Given the description of an element on the screen output the (x, y) to click on. 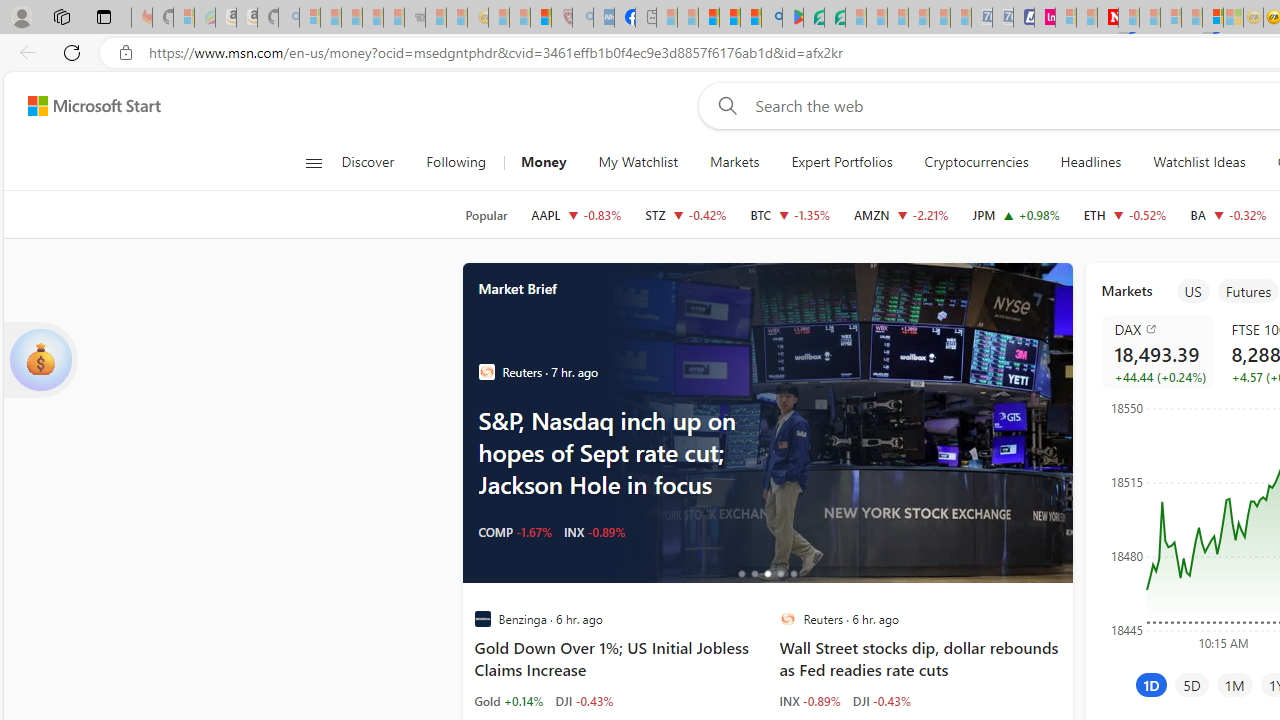
My Watchlist (637, 162)
Latest Politics News & Archive | Newsweek.com (1107, 17)
Cryptocurrencies (976, 162)
BTC Bitcoin decrease 60,511.01 -814.48 -1.35% (790, 214)
Watchlist Ideas (1199, 162)
MSNBC - MSN - Sleeping (666, 17)
JPM JPMORGAN CHASE & CO. increase 216.71 +2.11 +0.98% (1016, 214)
Reuters (787, 619)
Skip to footer (82, 105)
New tab - Sleeping (646, 17)
